Given the description of an element on the screen output the (x, y) to click on. 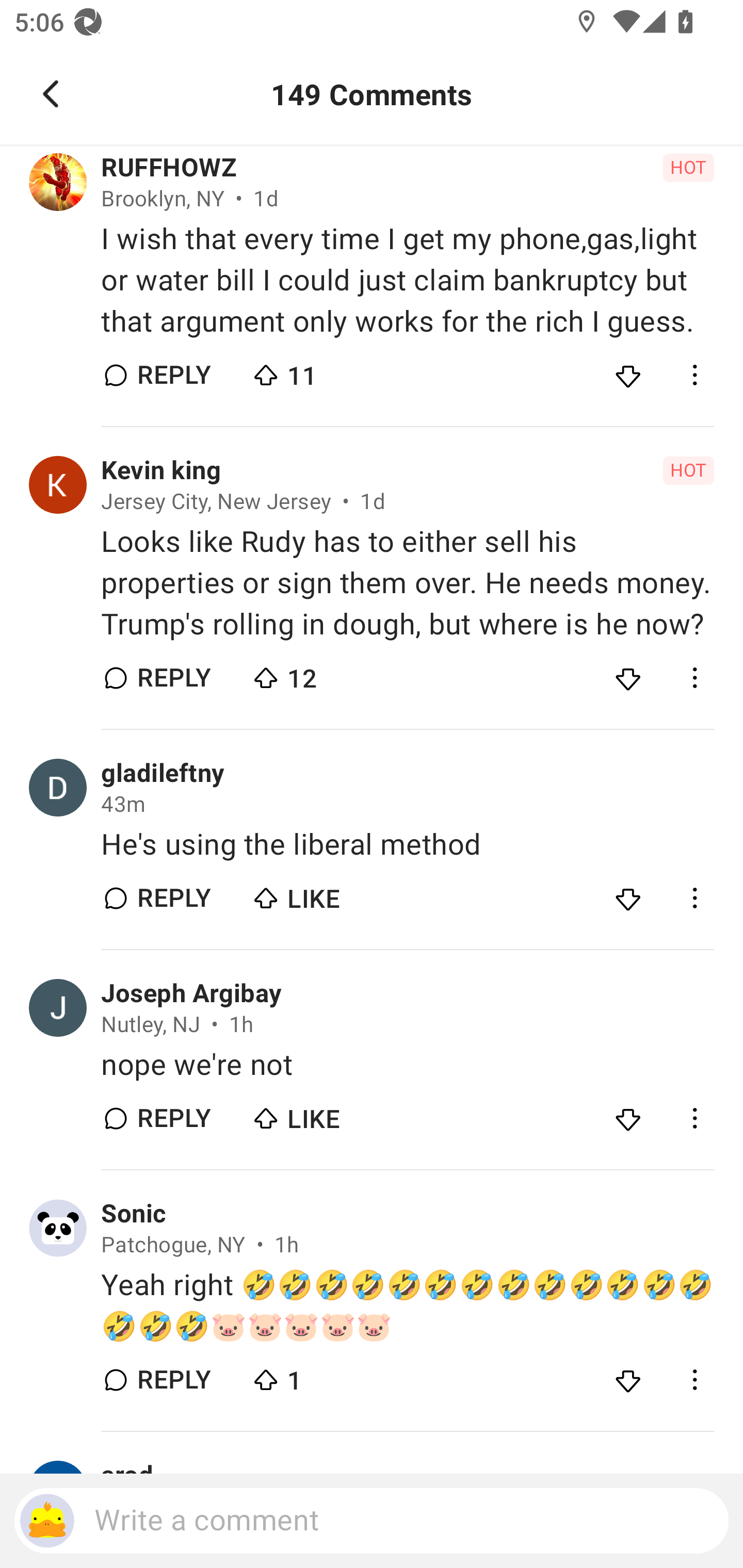
Navigate up (50, 93)
RUFFHOWZ (169, 167)
11 (320, 370)
REPLY (173, 375)
Kevin king (160, 471)
12 (320, 673)
REPLY (173, 678)
gladileftny (163, 773)
He's using the liberal method (407, 844)
LIKE (320, 893)
REPLY (173, 897)
Joseph Argibay (191, 993)
nope we're not (407, 1064)
LIKE (320, 1113)
REPLY (173, 1118)
Sonic (133, 1214)
Yeah right 🤣🤣🤣🤣🤣🤣🤣🤣🤣🤣🤣🤣🤣🤣🤣🤣🐷🐷🐷🐷🐷 (407, 1305)
1 (320, 1375)
REPLY (173, 1380)
Write a comment (371, 1520)
